Given the description of an element on the screen output the (x, y) to click on. 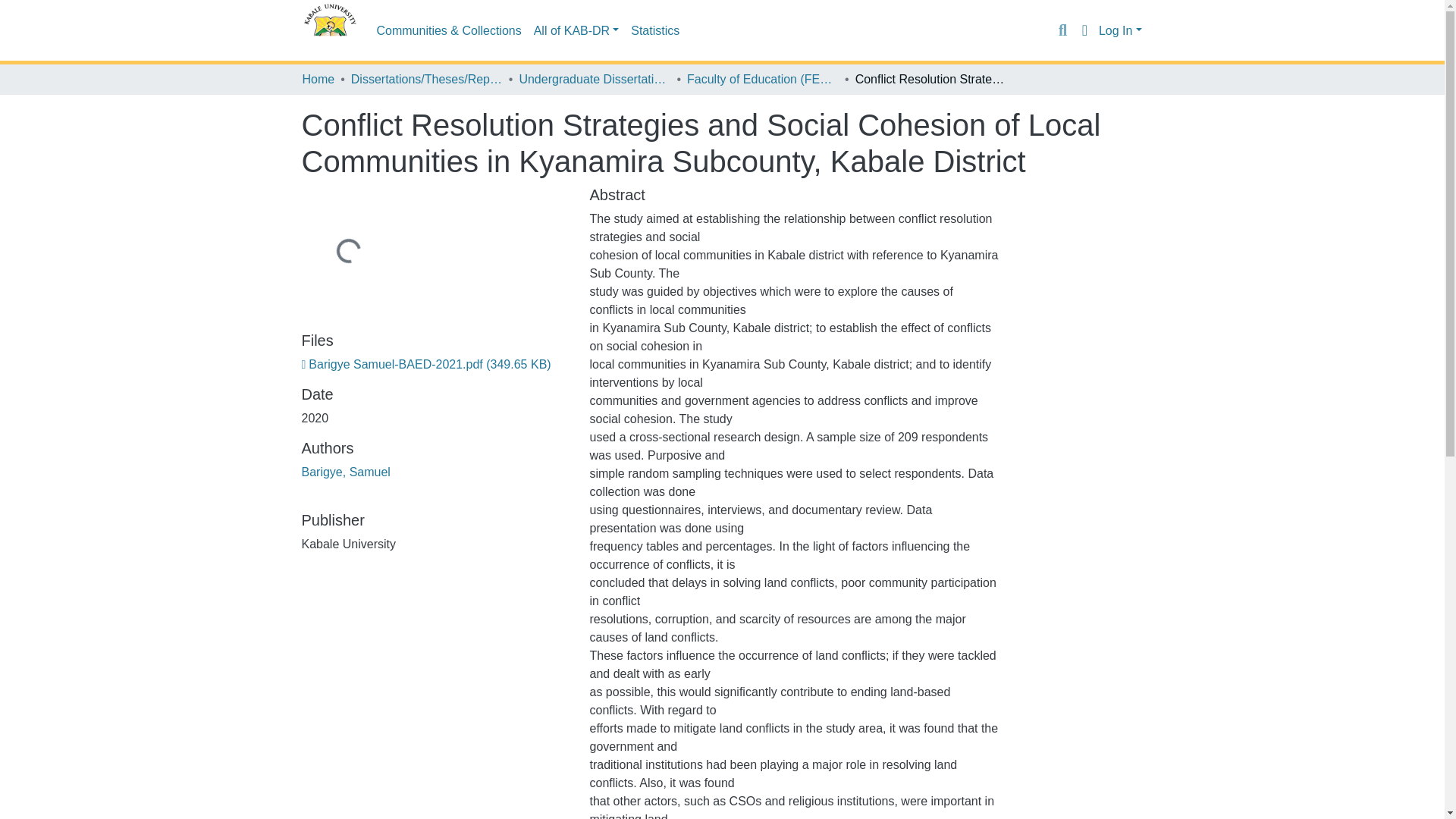
Language switch (1084, 30)
Log In (1119, 30)
Barigye, Samuel (345, 472)
Statistics (654, 30)
Search (1061, 30)
Home (317, 79)
All of KAB-DR (576, 30)
Undergraduate Dissertations (593, 79)
Statistics (654, 30)
